Given the description of an element on the screen output the (x, y) to click on. 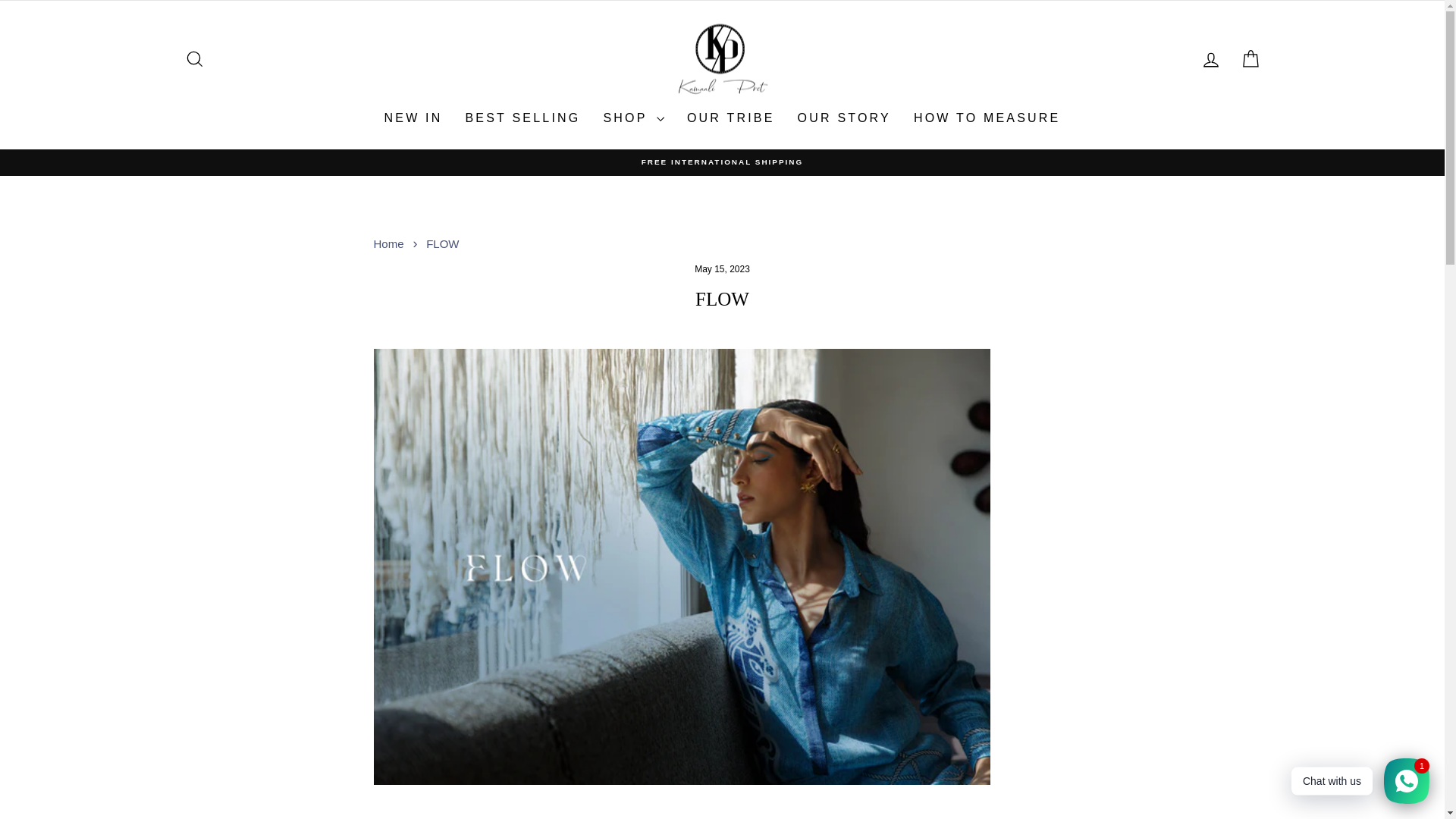
Home (387, 243)
ACCOUNT (194, 59)
ICON-SEARCH (1210, 59)
